Given the description of an element on the screen output the (x, y) to click on. 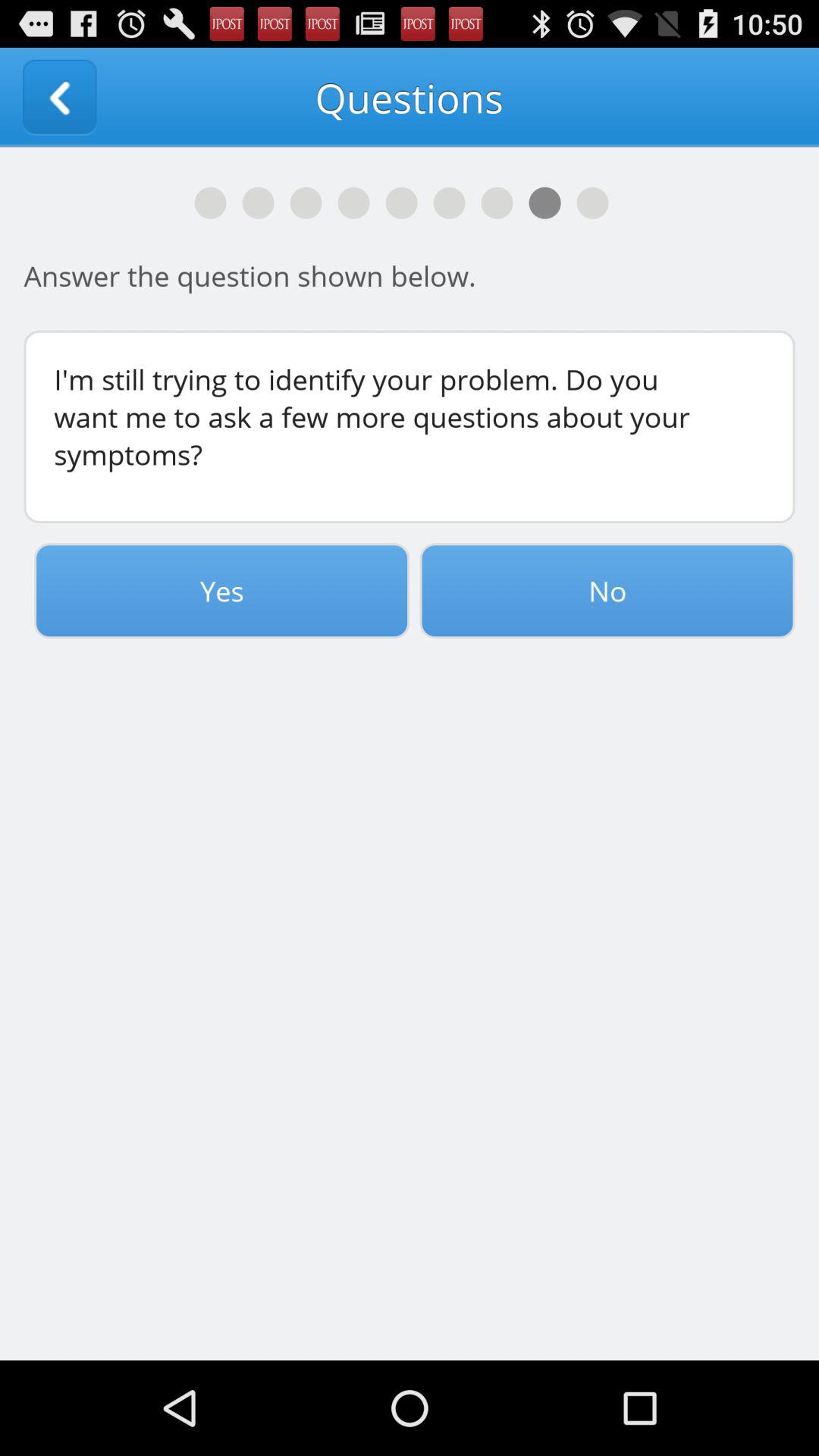
press the item below the i m still (607, 590)
